Given the description of an element on the screen output the (x, y) to click on. 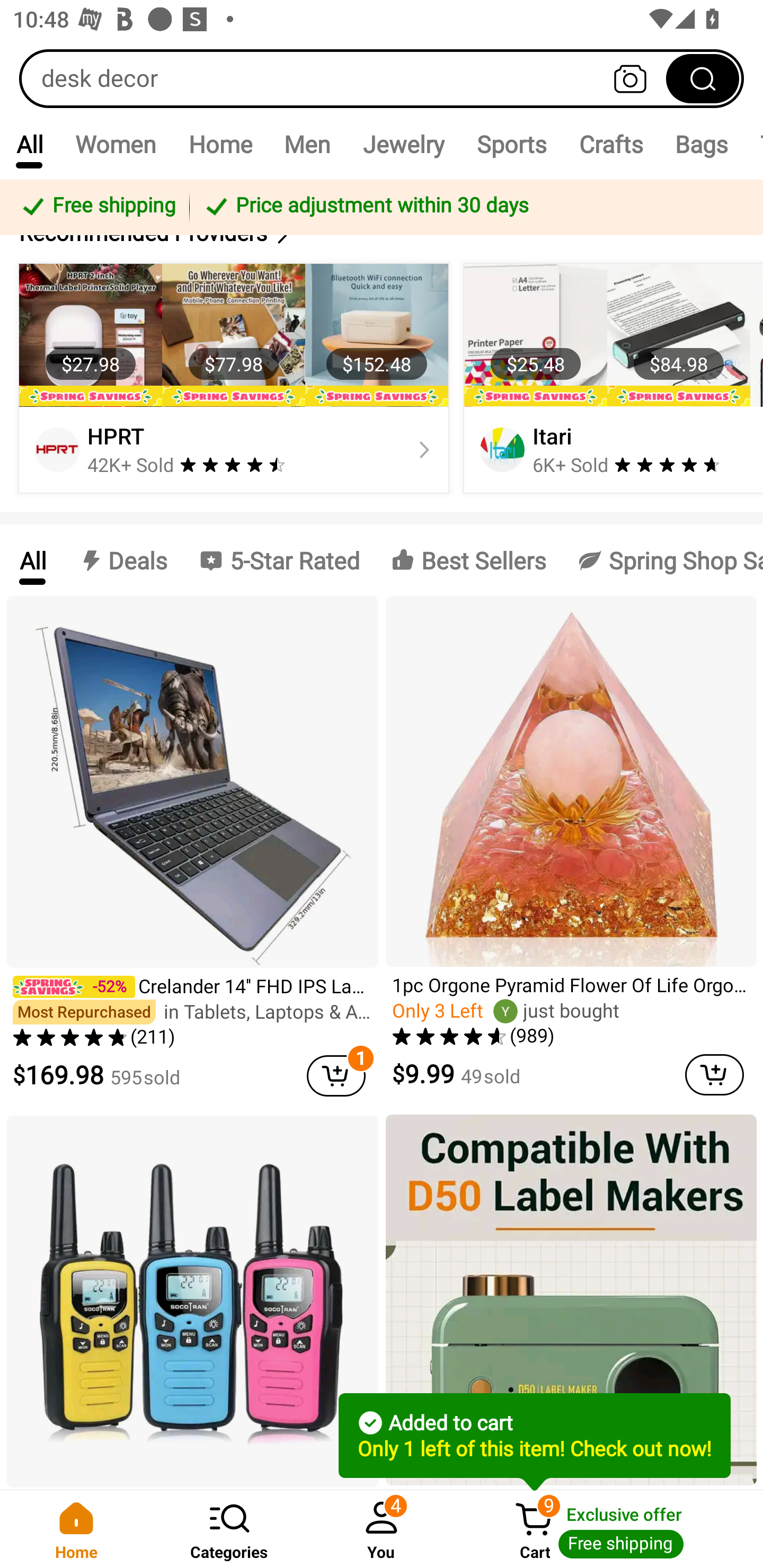
desk decor (381, 78)
All (29, 144)
Women (115, 144)
Home (219, 144)
Men (306, 144)
Jewelry (403, 144)
Sports (511, 144)
Crafts (611, 144)
Bags (701, 144)
Free shipping (97, 206)
Price adjustment within 30 days (472, 206)
$27.98 $77.98 $152.48 HPRT 42K+ Sold (233, 377)
$25.48 $84.98 Itari 6K+ Sold (610, 377)
All (32, 559)
Deals Deals Deals (122, 559)
5-Star Rated 5-Star Rated 5-Star Rated (279, 559)
Best Sellers Best Sellers Best Sellers (468, 559)
cart delete (714, 1074)
cart delete (335, 1075)
Home (76, 1528)
Categories (228, 1528)
You 4 You (381, 1528)
Cart 9 Cart Exclusive offer (610, 1528)
